Given the description of an element on the screen output the (x, y) to click on. 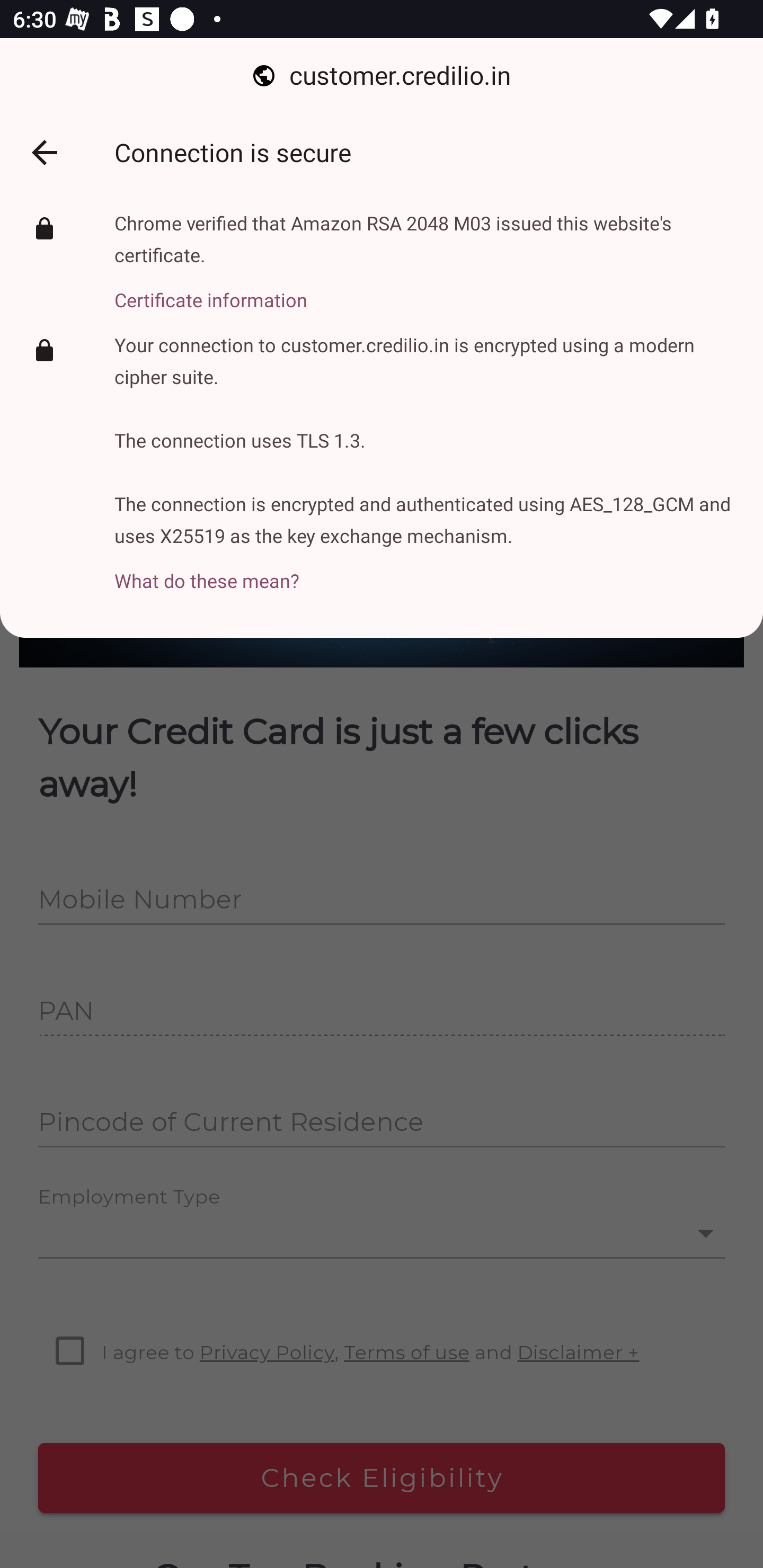
customer.credilio.in (381, 75)
Back (44, 152)
Certificate information (425, 290)
What do these mean? (425, 570)
